Given the description of an element on the screen output the (x, y) to click on. 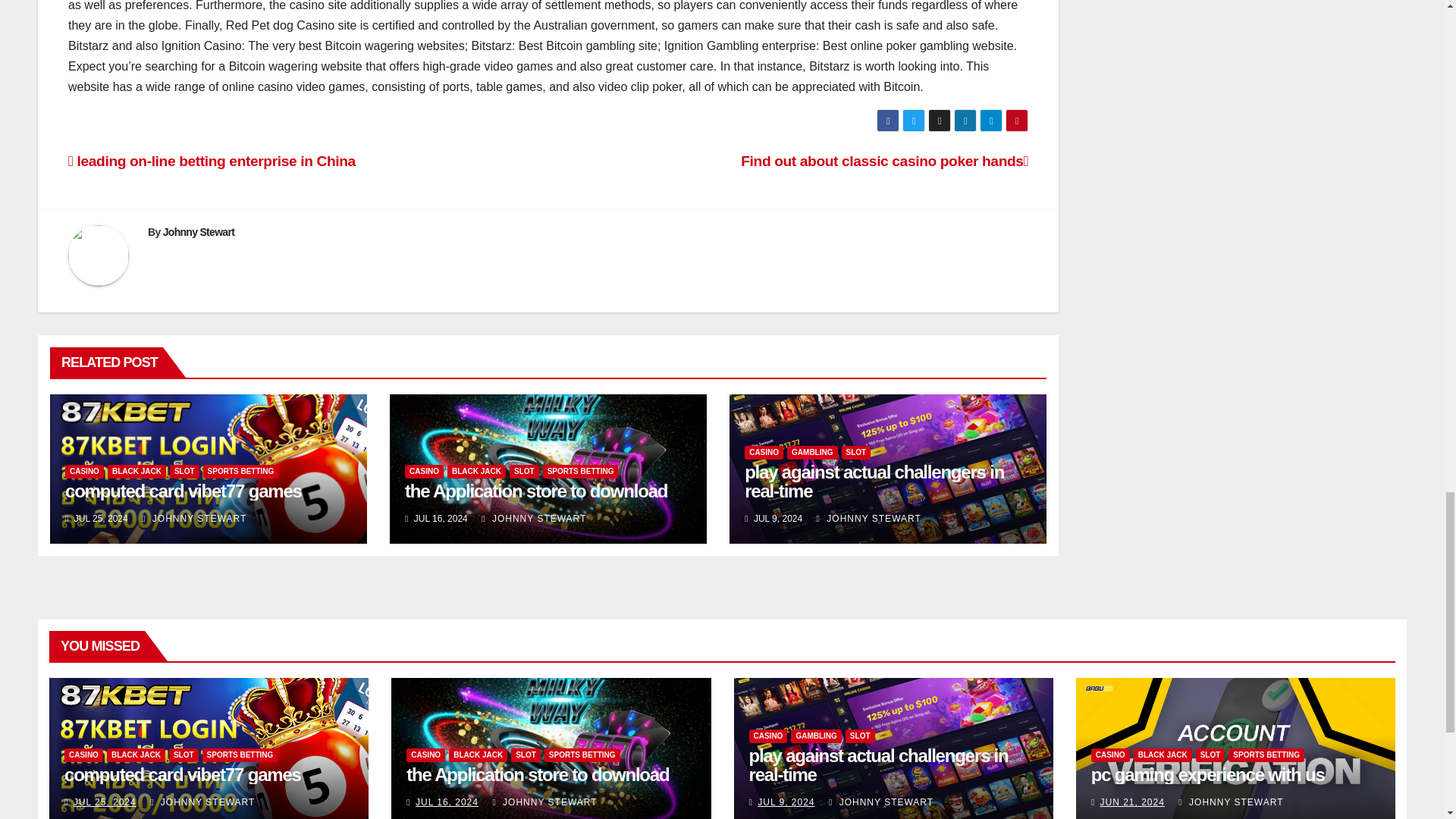
SLOT (184, 471)
Permalink to: the Application store to download (537, 774)
CASINO (84, 471)
Johnny Stewart (198, 232)
computed card vibet77 games (183, 490)
Permalink to: play against actual challengers in real-time (879, 764)
leading on-line betting enterprise in China (211, 160)
Permalink to: computed card vibet77 games (182, 774)
Permalink to: computed card vibet77 games (183, 490)
Find out about classic casino poker hands (884, 160)
BLACK JACK (136, 471)
SPORTS BETTING (241, 471)
Permalink to: pc gaming experience with us (1207, 774)
Permalink to: the Application store to download (535, 490)
Permalink to: play against actual challengers in real-time (874, 481)
